Given the description of an element on the screen output the (x, y) to click on. 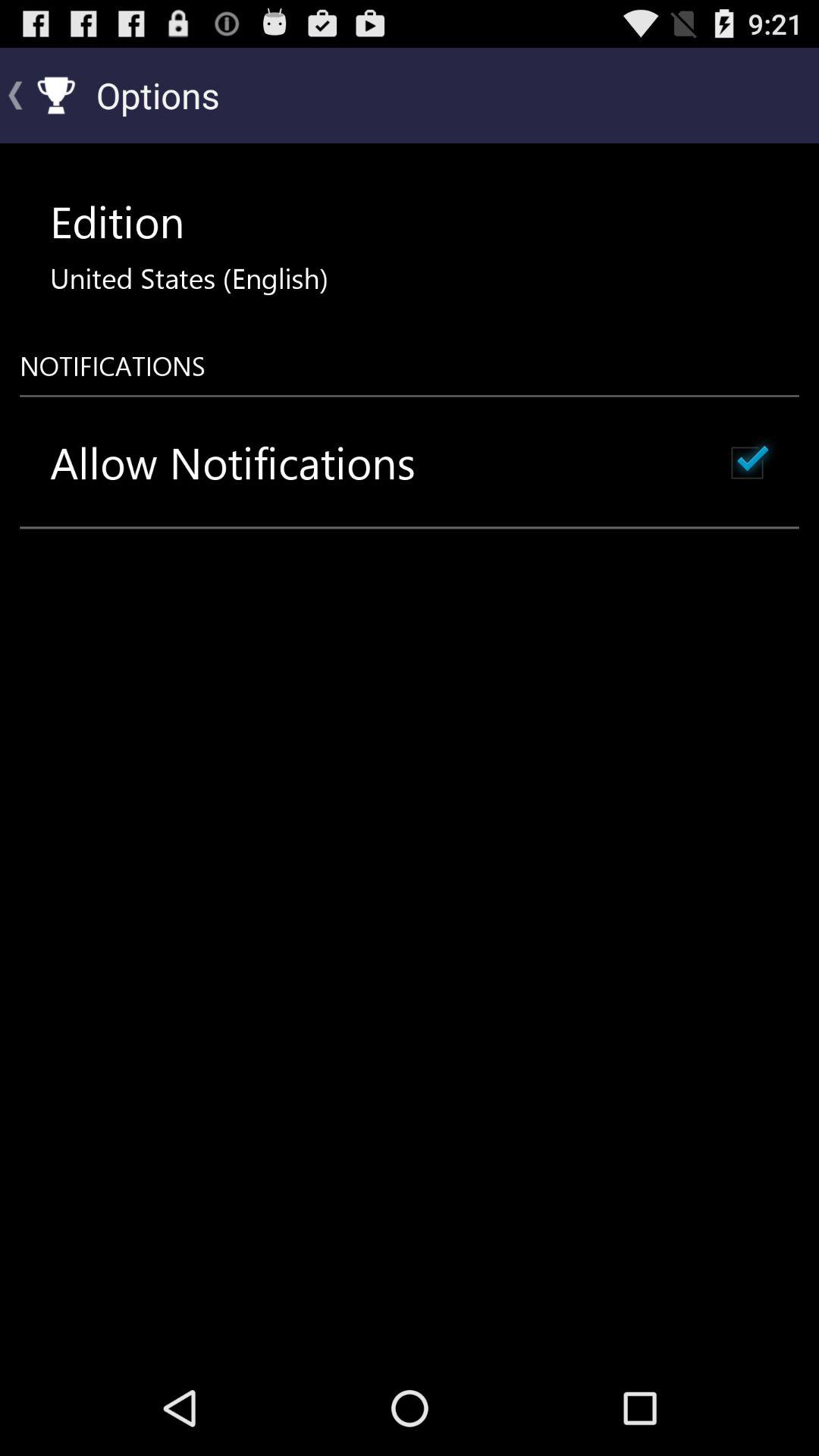
turn on united states (english) icon (189, 278)
